Given the description of an element on the screen output the (x, y) to click on. 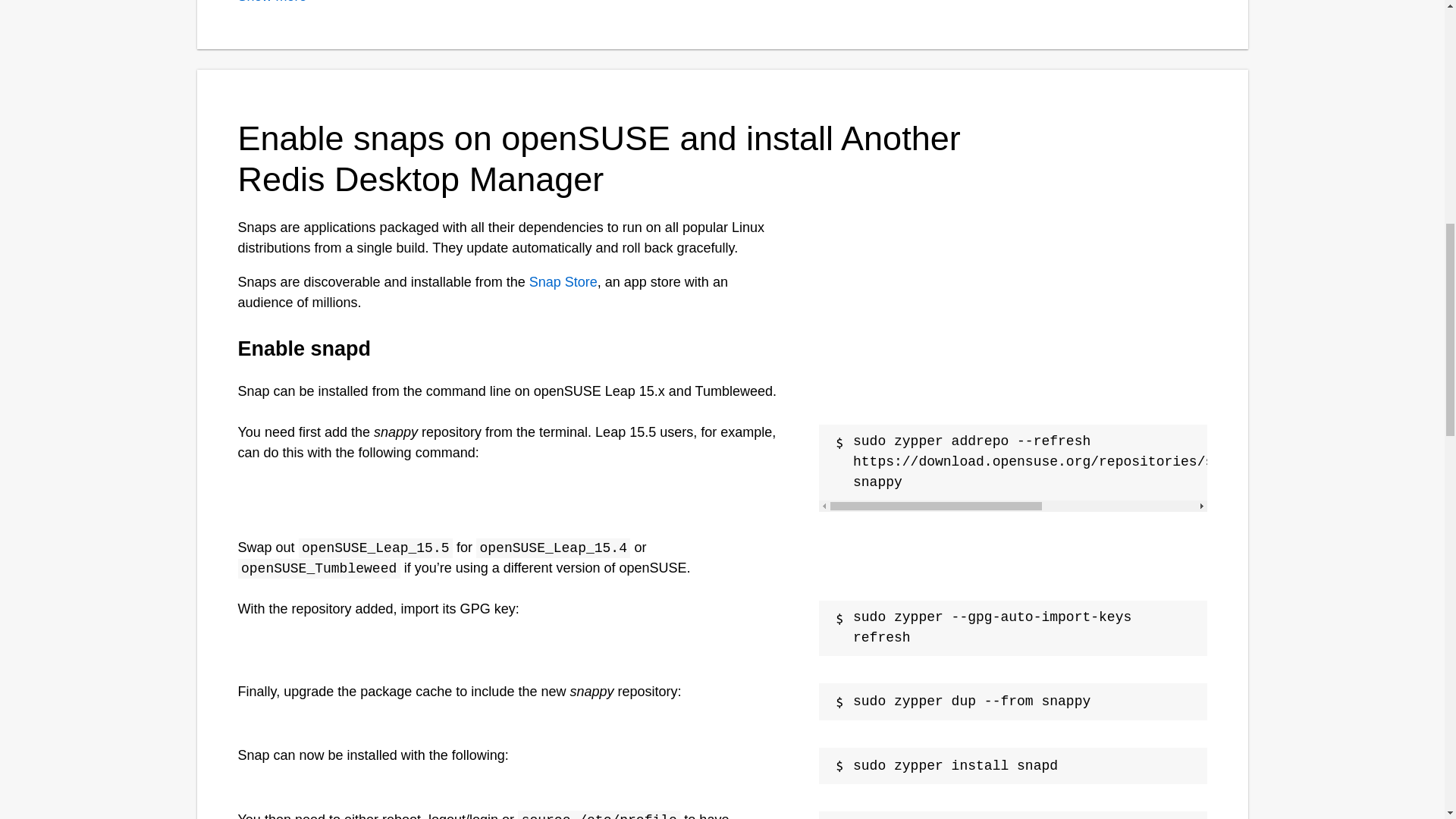
Show more (272, 2)
Snap Store (562, 281)
